Given the description of an element on the screen output the (x, y) to click on. 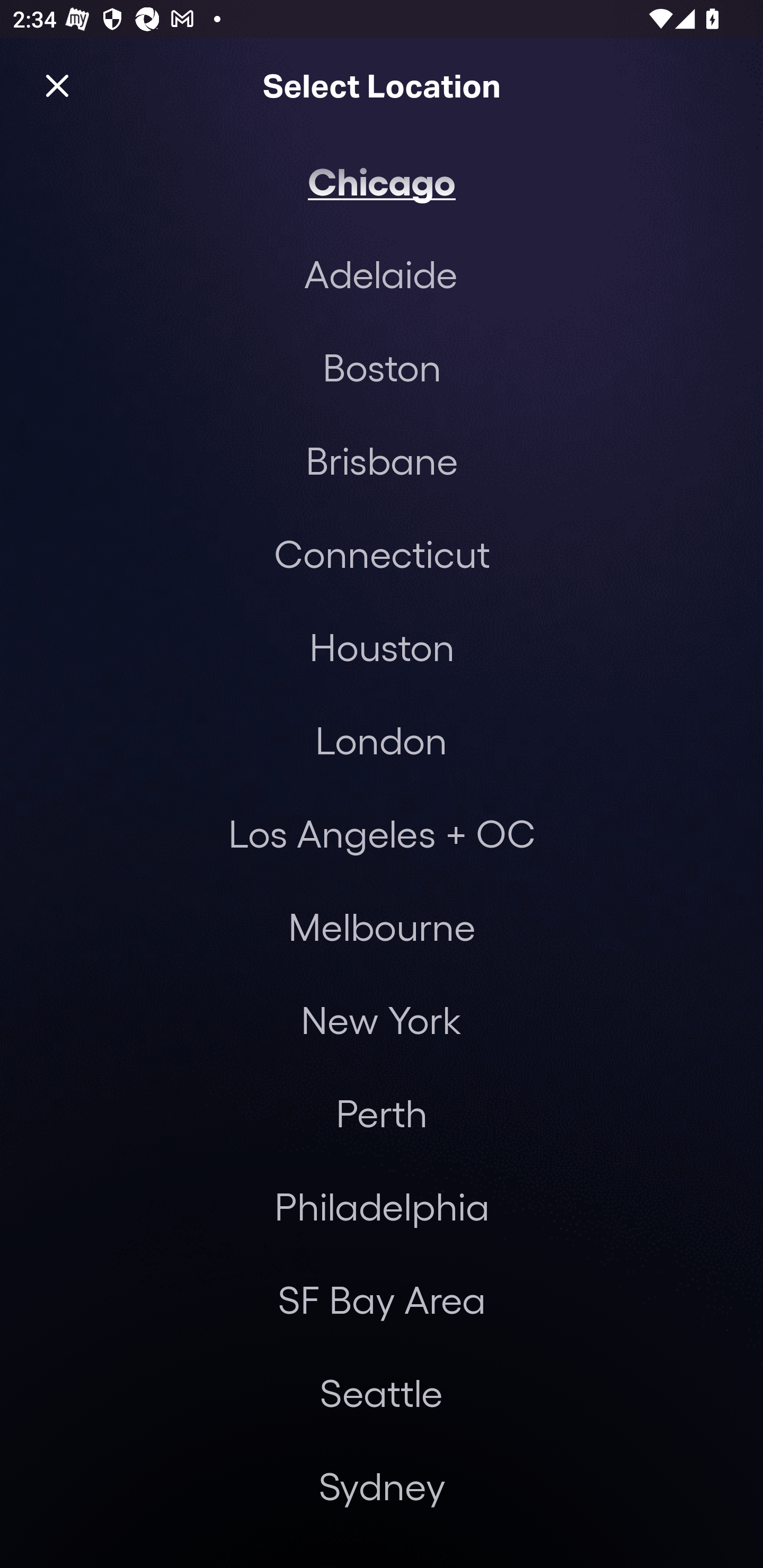
Close (57, 85)
Chicago (381, 180)
Adelaide (380, 273)
Boston (381, 366)
Brisbane (381, 459)
Connecticut (381, 553)
Houston (381, 646)
London (380, 740)
Los Angeles + OC (381, 833)
Melbourne (381, 926)
New York (380, 1019)
Perth (381, 1113)
Philadelphia (381, 1206)
SF Bay Area (381, 1298)
Seattle (380, 1392)
Sydney (381, 1485)
